Given the description of an element on the screen output the (x, y) to click on. 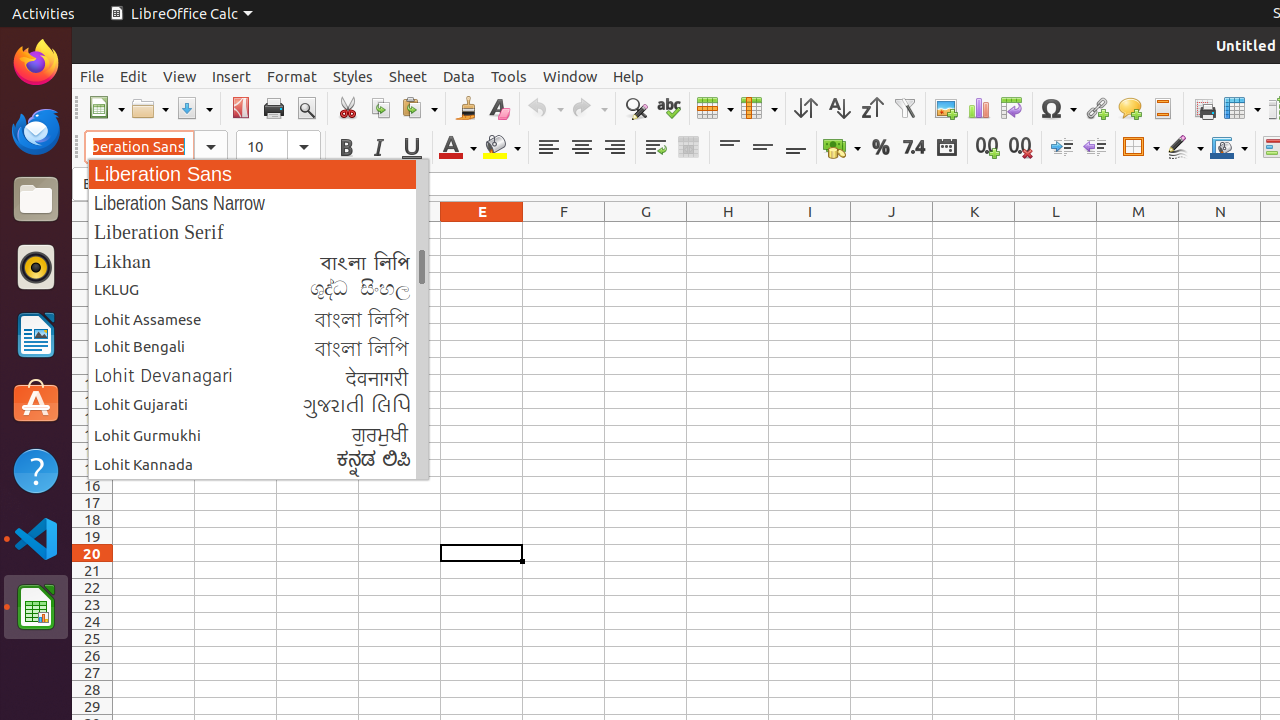
Liberation Serif Element type: list-item (258, 231)
Align Center Element type: push-button (581, 147)
Lohit Gurmukhi Element type: list-item (258, 434)
Print Preview Element type: toggle-button (306, 108)
